Given the description of an element on the screen output the (x, y) to click on. 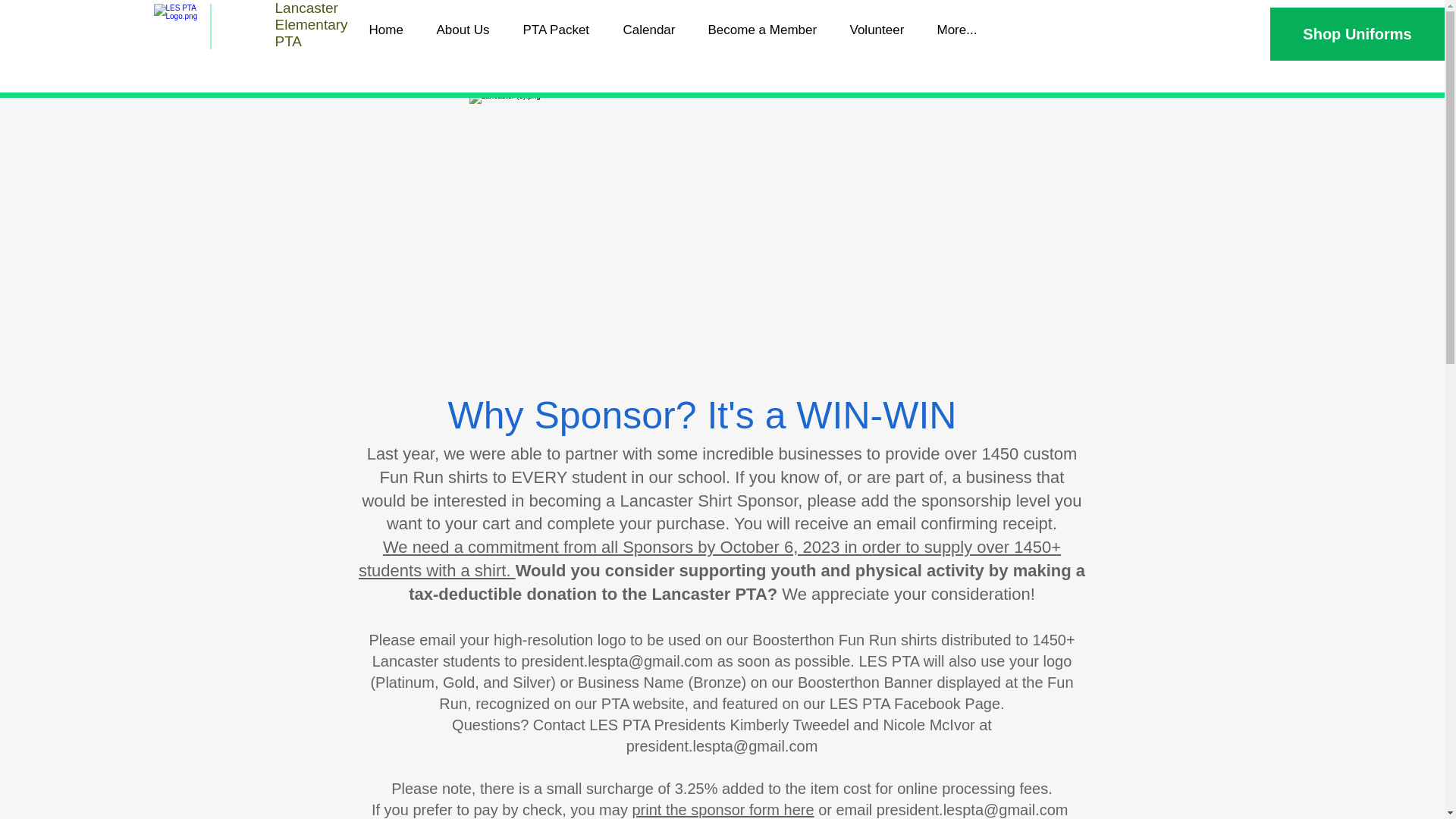
Home (391, 29)
print the sponsor form here (722, 809)
Volunteer (880, 29)
PTA Packet (561, 29)
Become a Member (766, 29)
Calendar (653, 29)
